Given the description of an element on the screen output the (x, y) to click on. 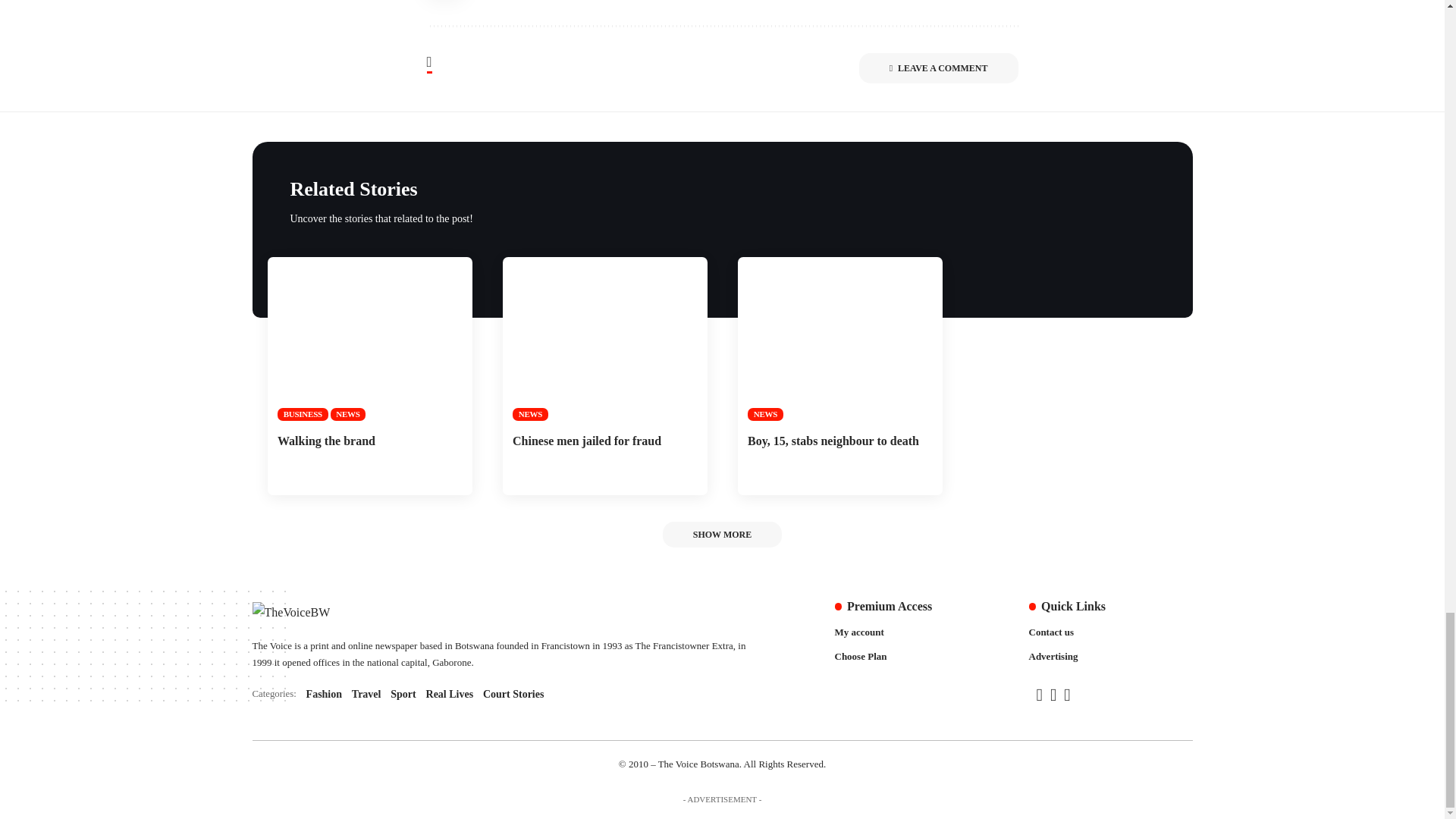
Chinese men jailed for fraud (498, 693)
Boy, 15, stabs neighbour to death (604, 338)
Walking the brand (839, 338)
